Given the description of an element on the screen output the (x, y) to click on. 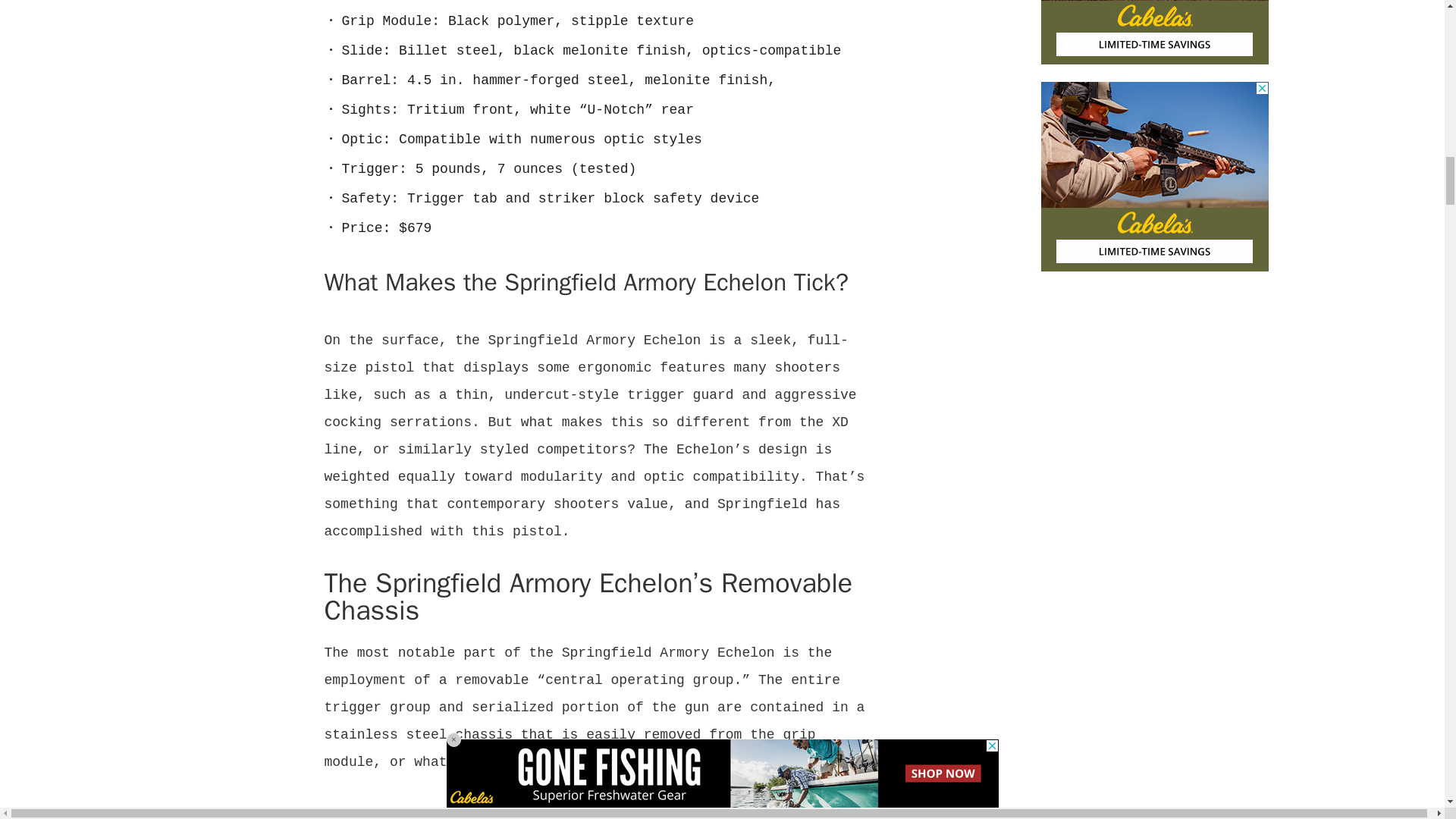
3rd party ad content (1154, 176)
